Given the description of an element on the screen output the (x, y) to click on. 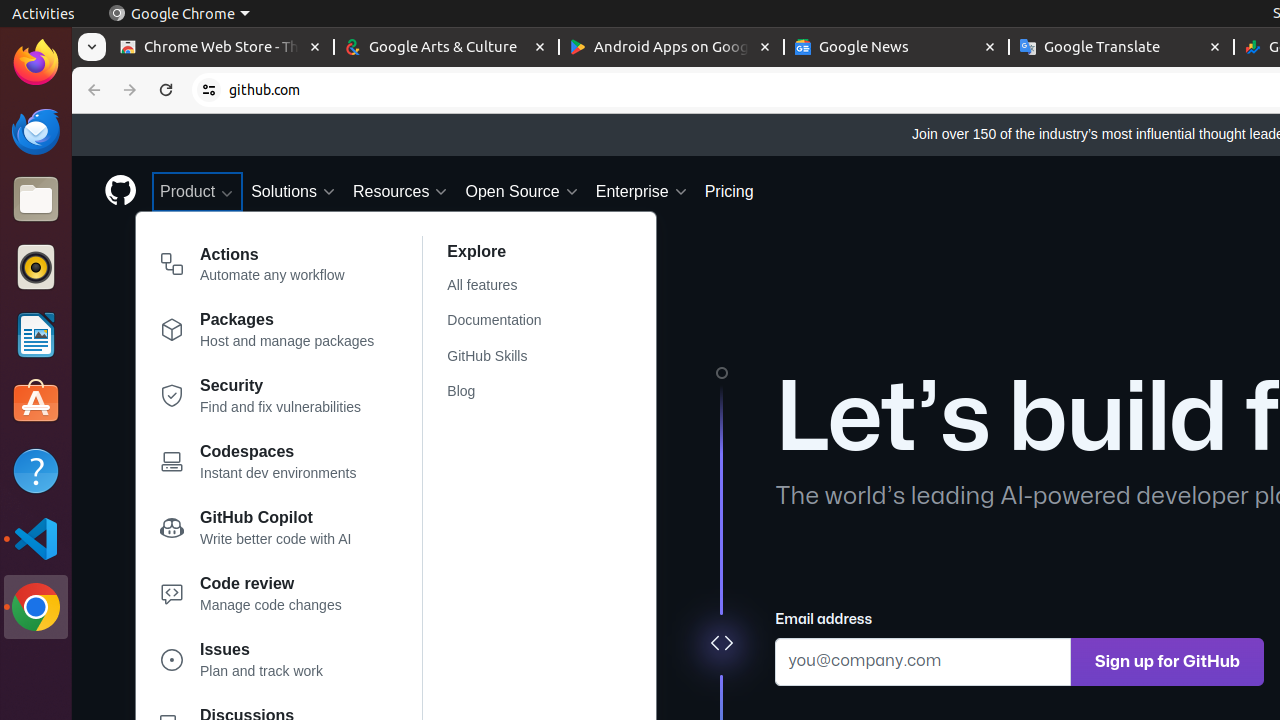
Google Arts & Culture - Memory usage - 60.0 MB Element type: page-tab (446, 47)
Ubuntu Software Element type: push-button (36, 402)
Google News - Memory usage - 51.2 MB Element type: page-tab (896, 47)
Code review Manage code changes Element type: link (267, 598)
Help Element type: push-button (36, 470)
